Given the description of an element on the screen output the (x, y) to click on. 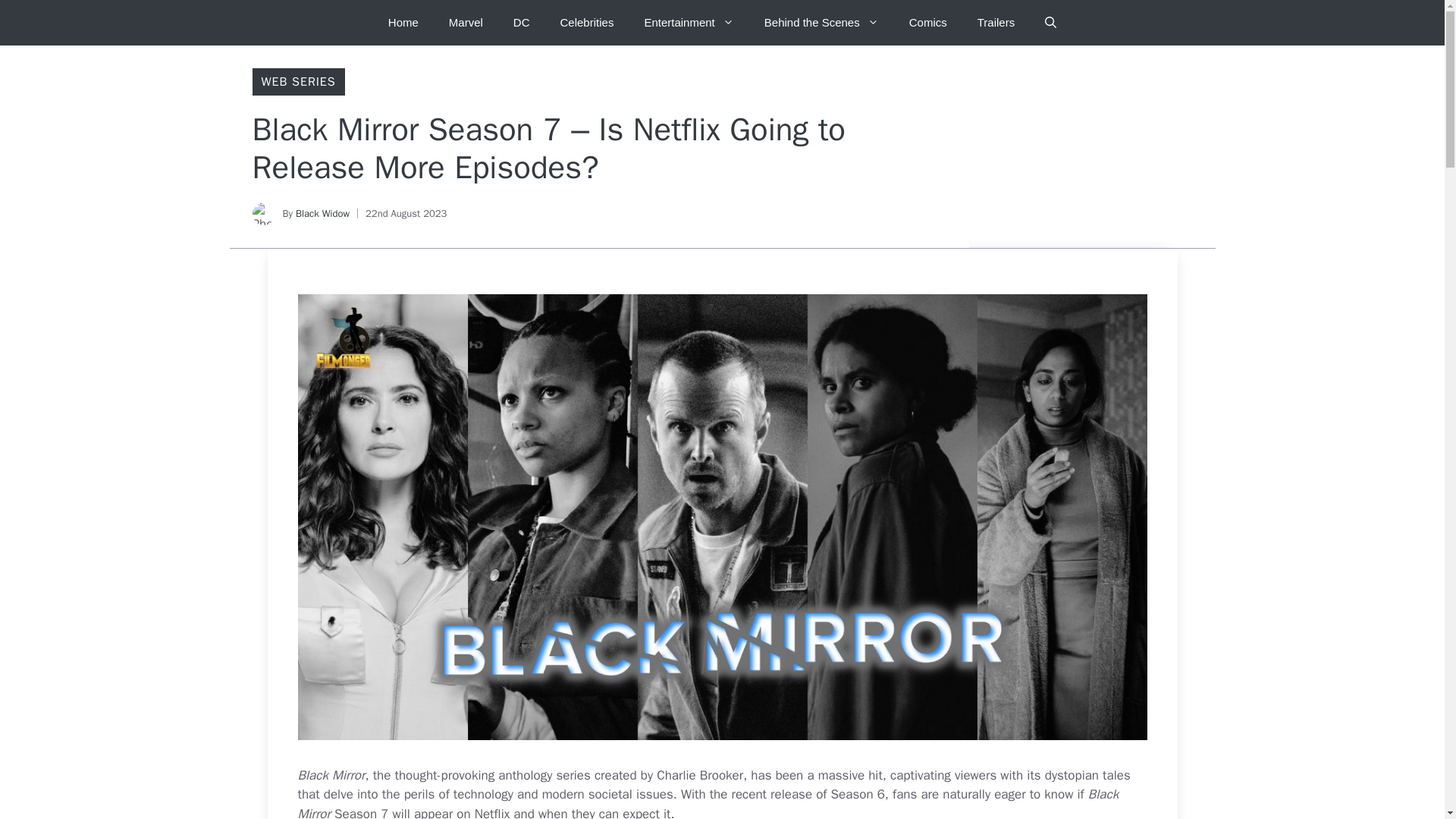
Trailers (995, 22)
Comics (927, 22)
Celebrities (586, 22)
DC (520, 22)
Home (402, 22)
Entertainment (688, 22)
Behind the Scenes (821, 22)
Marvel (465, 22)
Black Widow (322, 213)
WEB SERIES (297, 81)
